Given the description of an element on the screen output the (x, y) to click on. 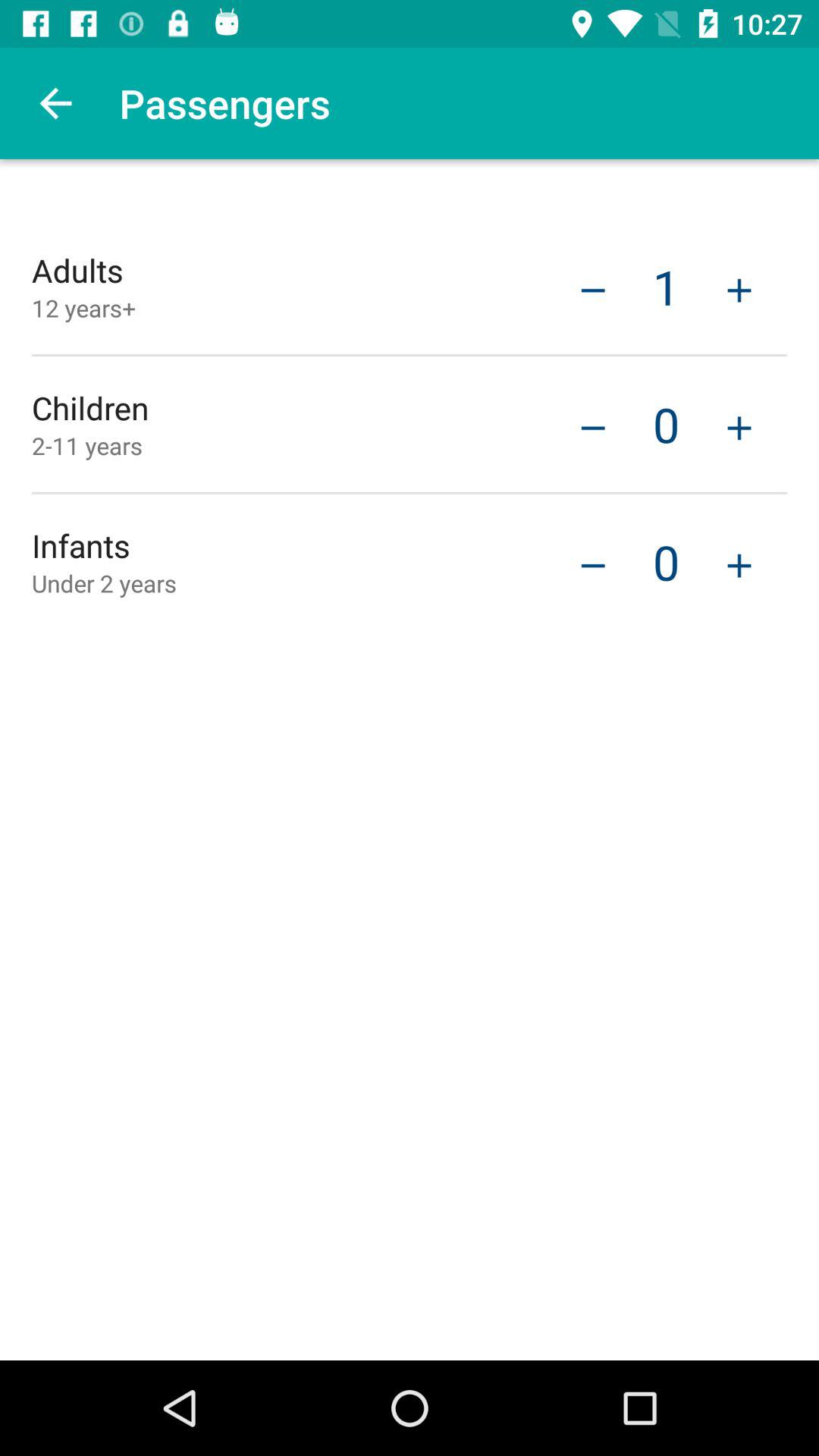
add an infant passenger (739, 563)
